Given the description of an element on the screen output the (x, y) to click on. 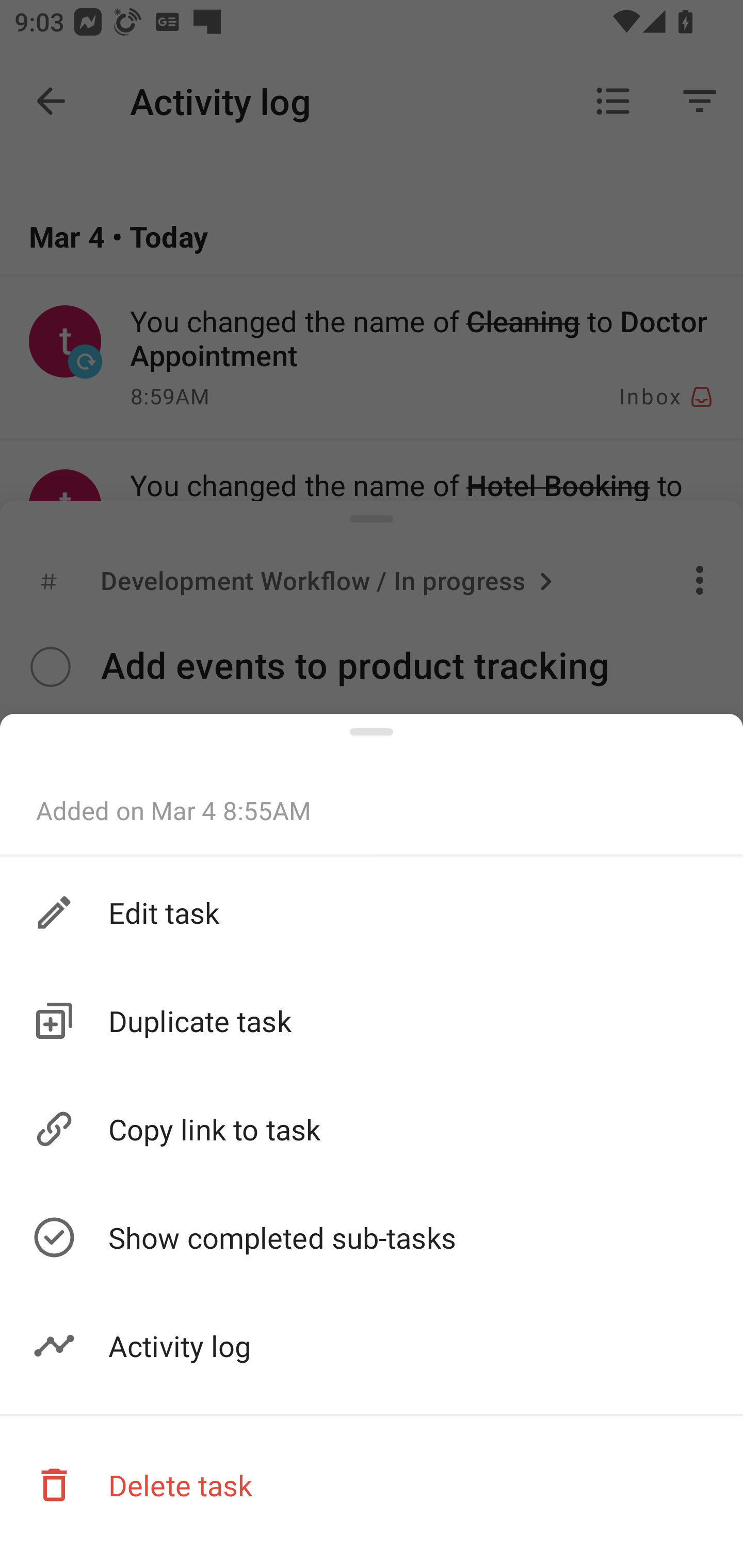
Edit task (371, 911)
Duplicate task (371, 1020)
Copy link to task (371, 1129)
Show completed sub-tasks (371, 1237)
Activity log (371, 1346)
Delete task (371, 1484)
